Given the description of an element on the screen output the (x, y) to click on. 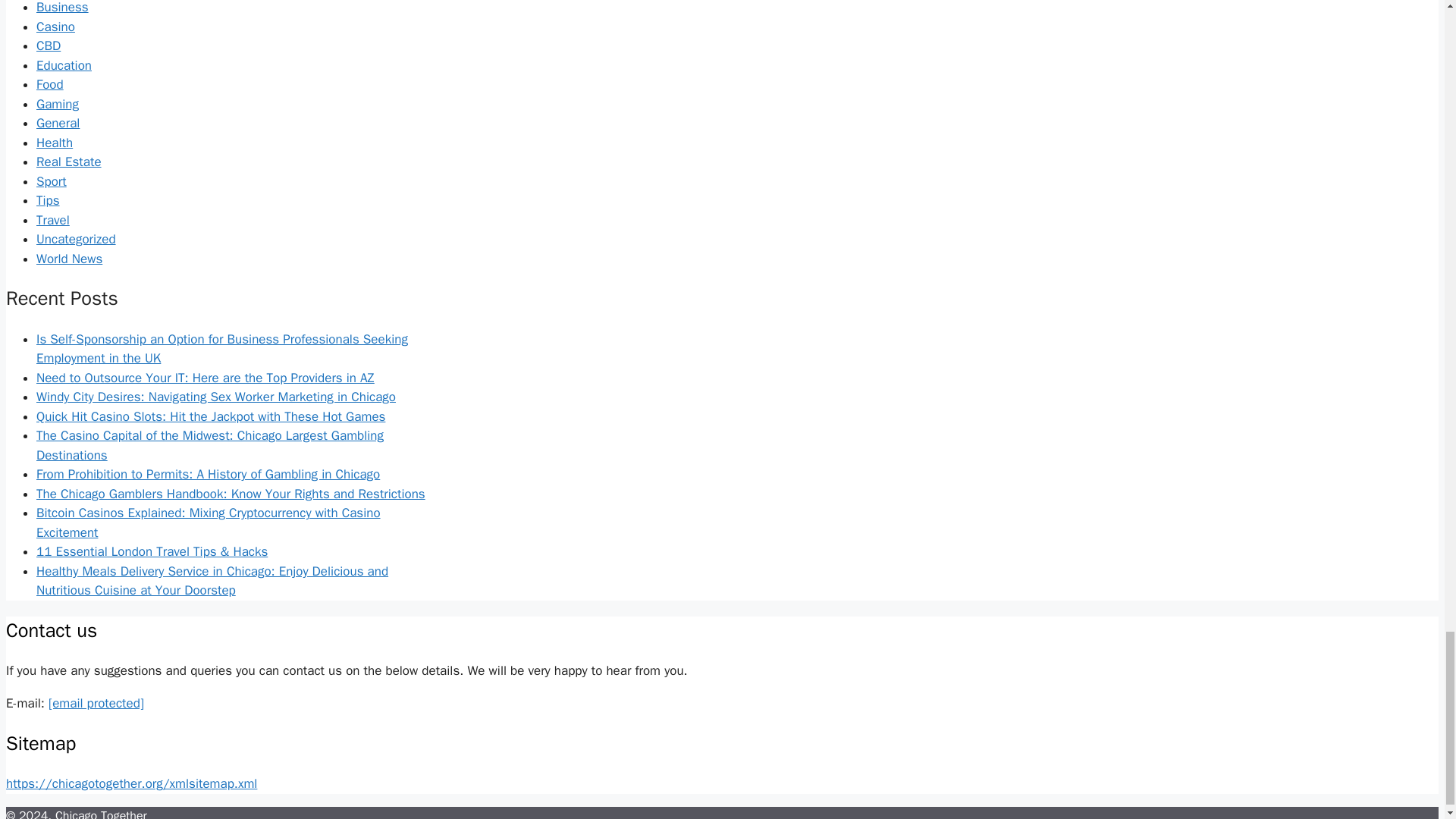
Tips (47, 200)
Gaming (57, 104)
Travel (52, 220)
Uncategorized (76, 238)
Business (62, 7)
Casino (55, 26)
Need to Outsource Your IT: Here are the Top Providers in AZ (205, 377)
Health (54, 142)
CBD (48, 45)
